Given the description of an element on the screen output the (x, y) to click on. 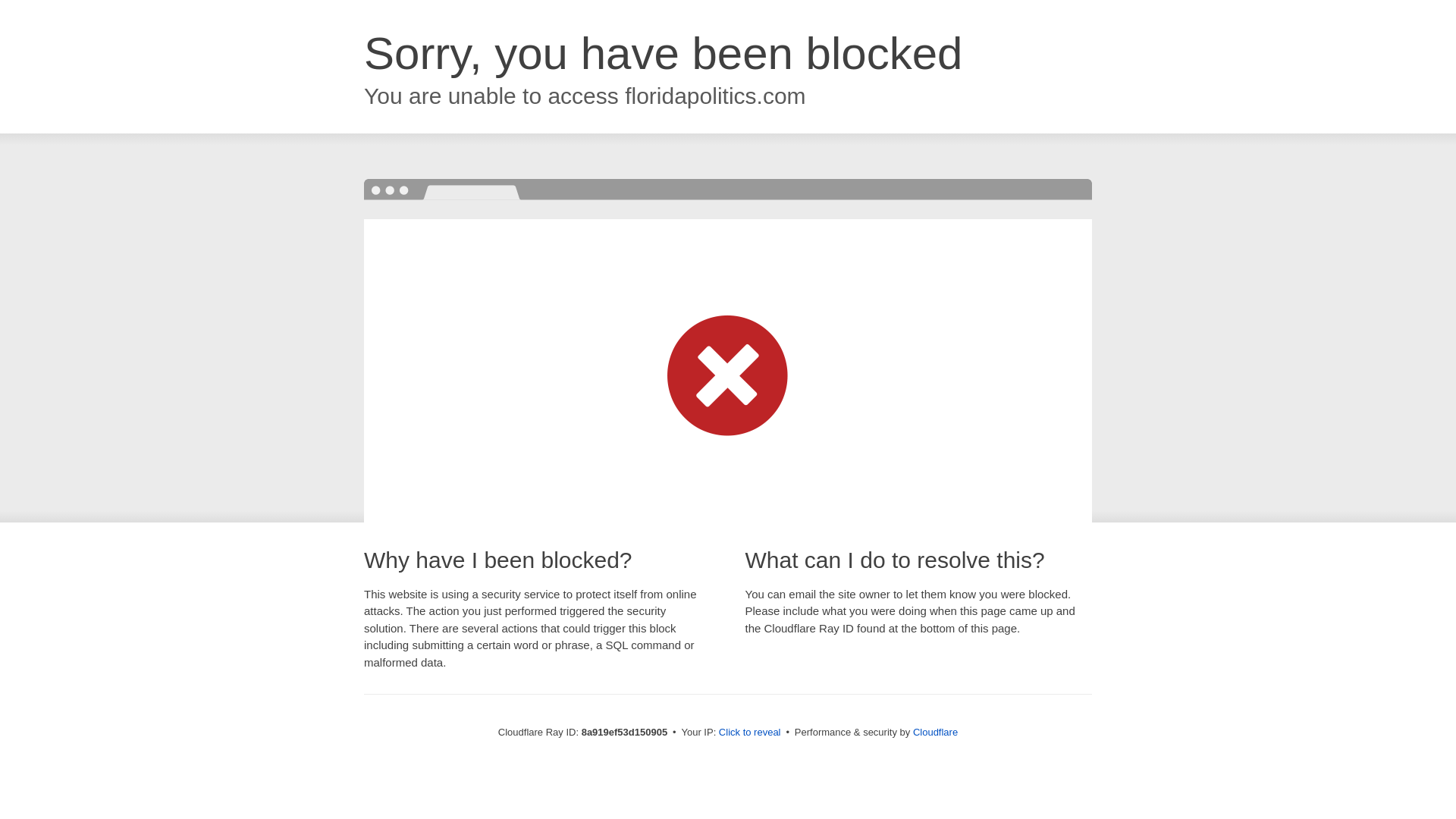
Cloudflare (935, 731)
Click to reveal (749, 732)
